Given the description of an element on the screen output the (x, y) to click on. 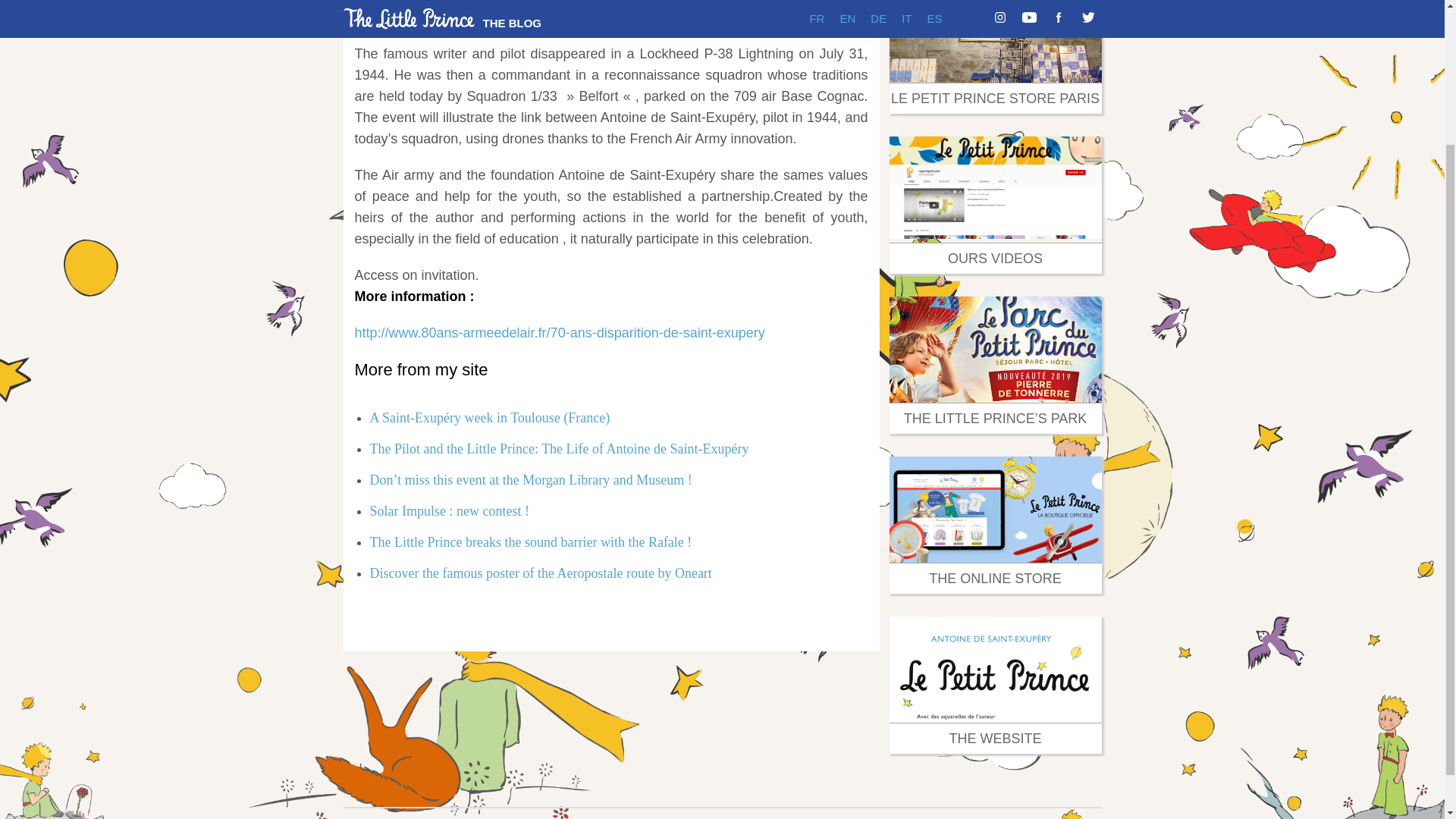
The Little Prince breaks the sound barrier with the Rafale ! (531, 541)
OURS VIDEOS (994, 258)
LE PETIT PRINCE STORE PARIS (995, 98)
Solar Impulse : new contest ! (449, 510)
